Given the description of an element on the screen output the (x, y) to click on. 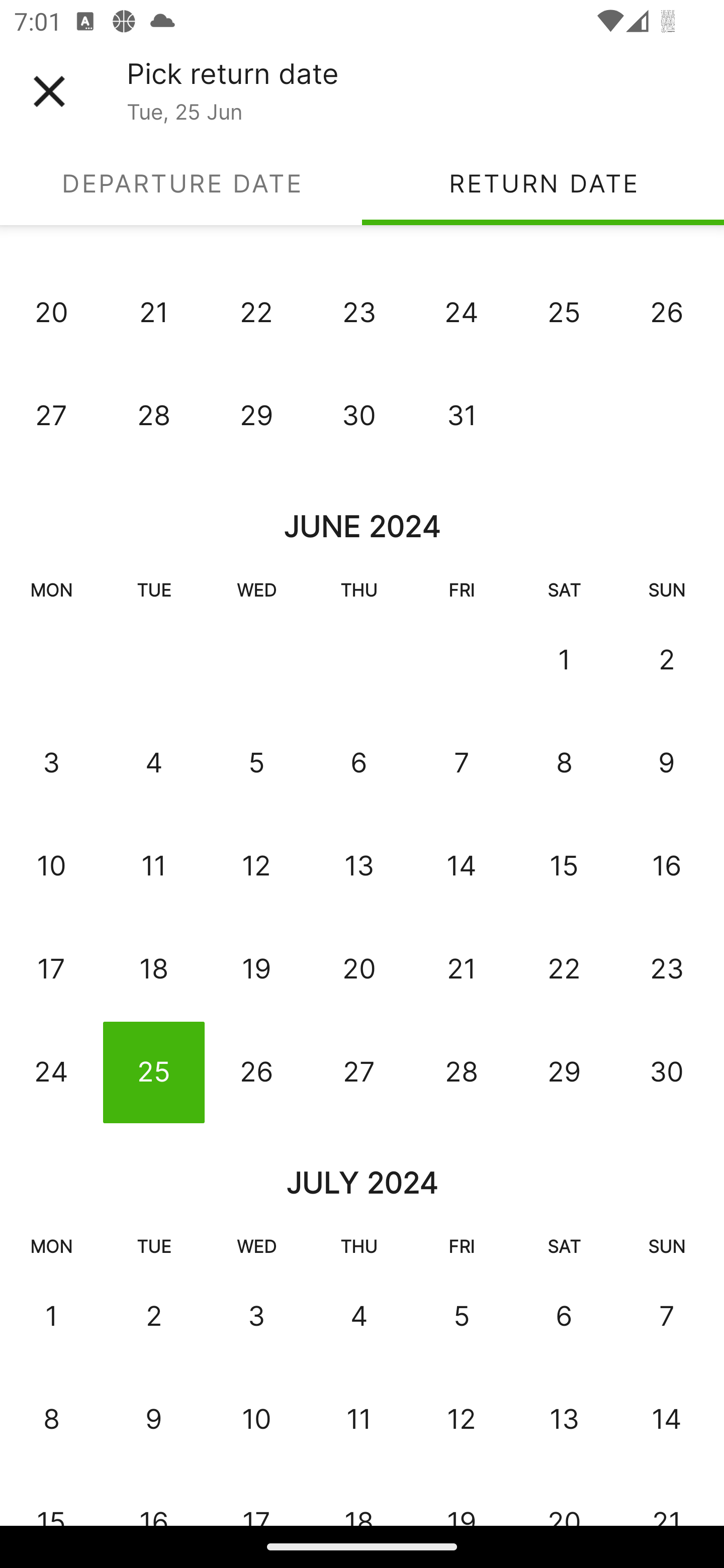
Departure Date DEPARTURE DATE (181, 183)
